Given the description of an element on the screen output the (x, y) to click on. 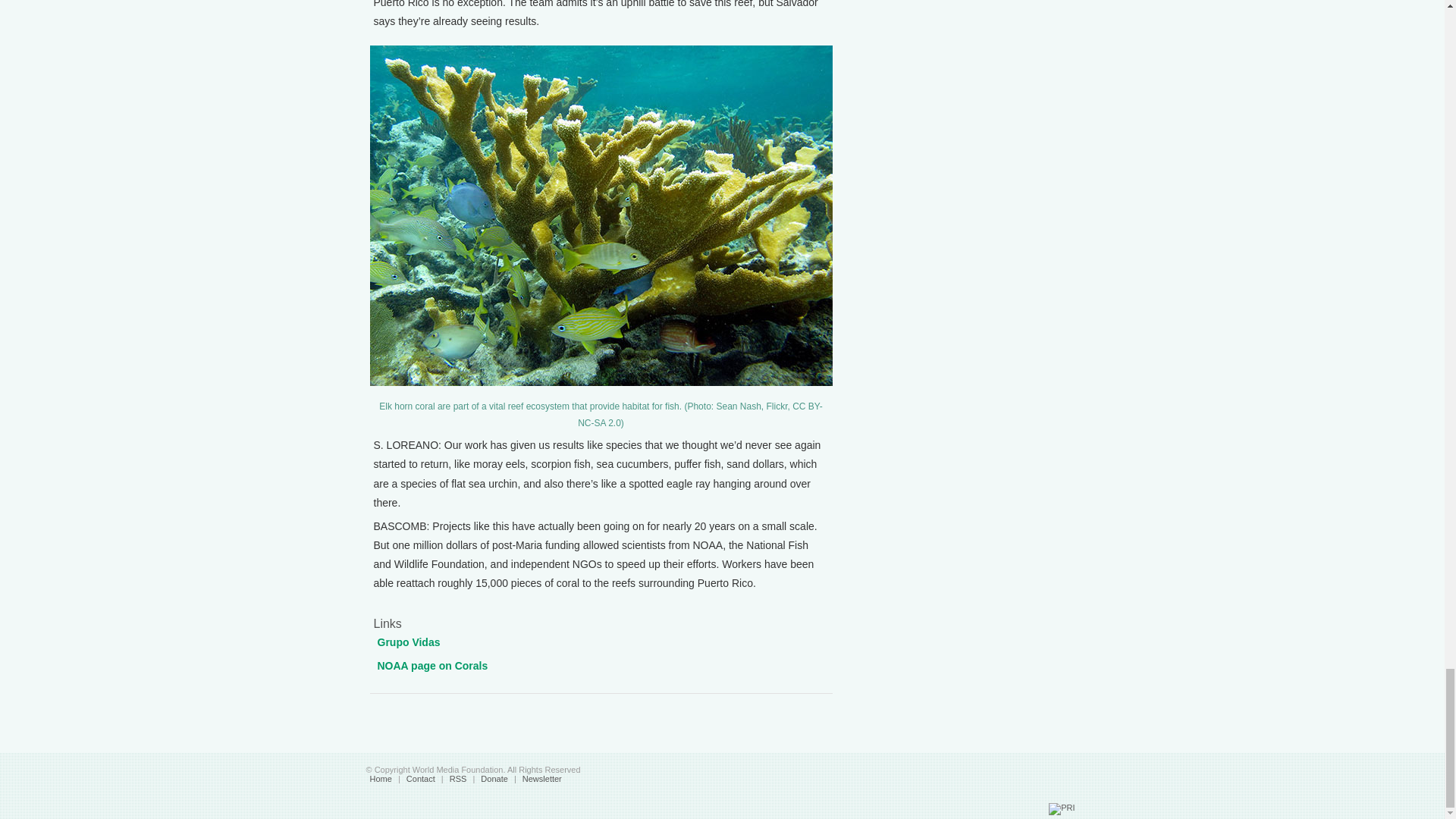
Grupo Vidas (409, 642)
NOAA page on Corals (432, 665)
